Given the description of an element on the screen output the (x, y) to click on. 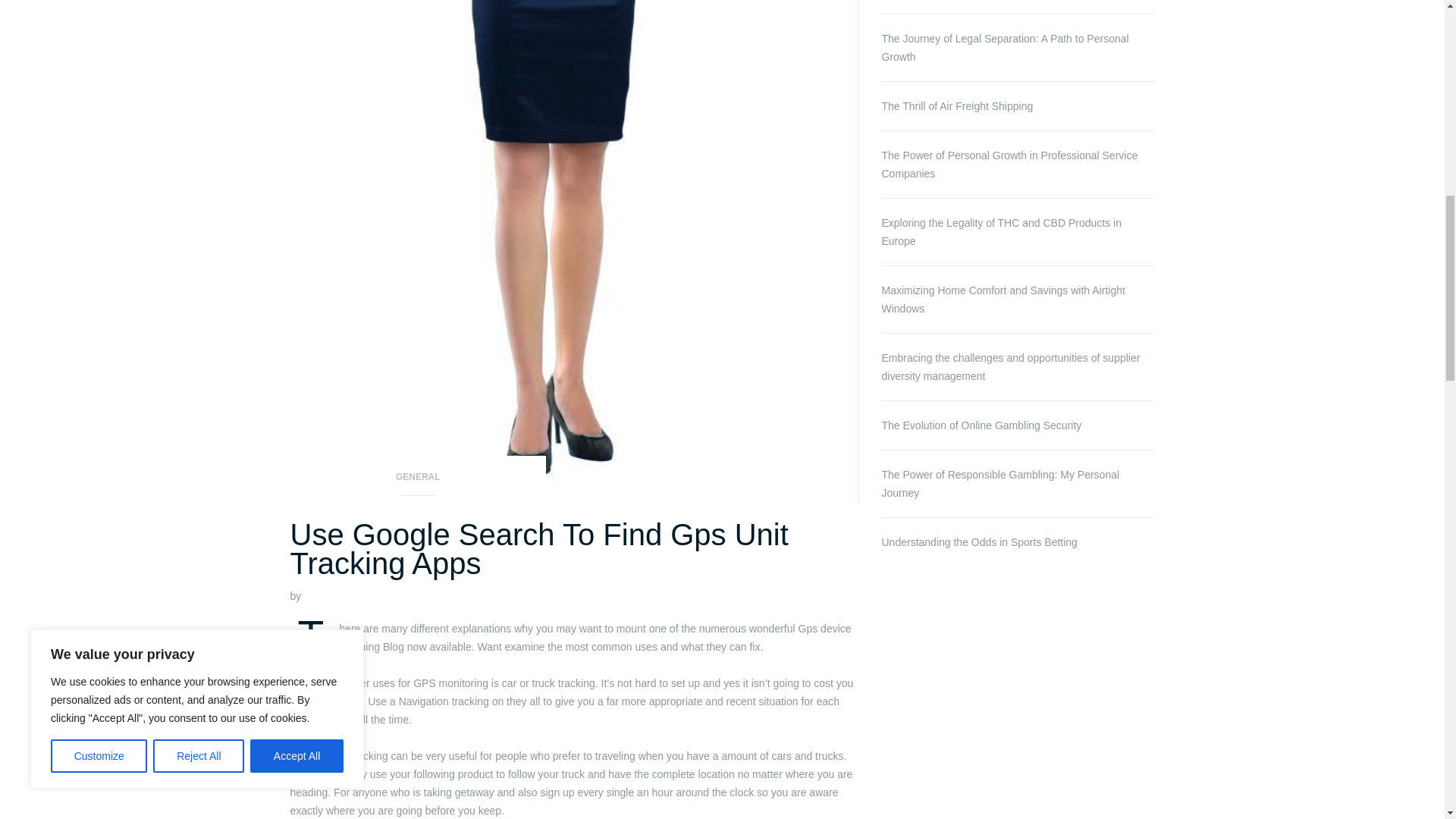
GENERAL (417, 481)
Use Google Search To Find Gps Unit Tracking Apps (538, 548)
